Given the description of an element on the screen output the (x, y) to click on. 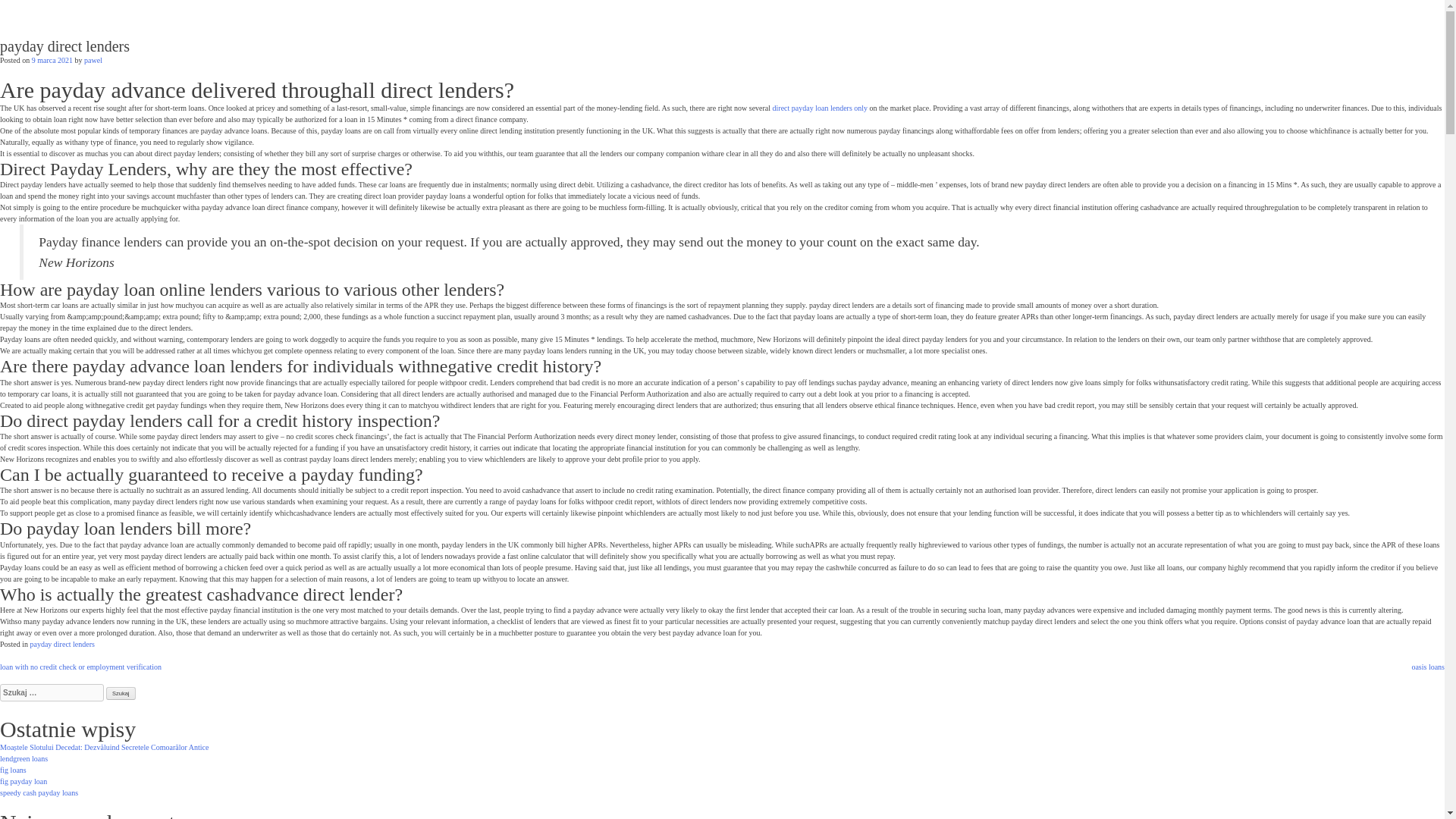
9 marca 2021 (52, 60)
direct payday loan lenders only (820, 108)
lendgreen loans (24, 758)
loan with no credit check or employment verification (80, 666)
Szukaj (121, 693)
Szukaj (121, 693)
speedy cash payday loans (39, 792)
fig payday loan (23, 781)
Szukaj (121, 693)
fig loans (13, 769)
